Given the description of an element on the screen output the (x, y) to click on. 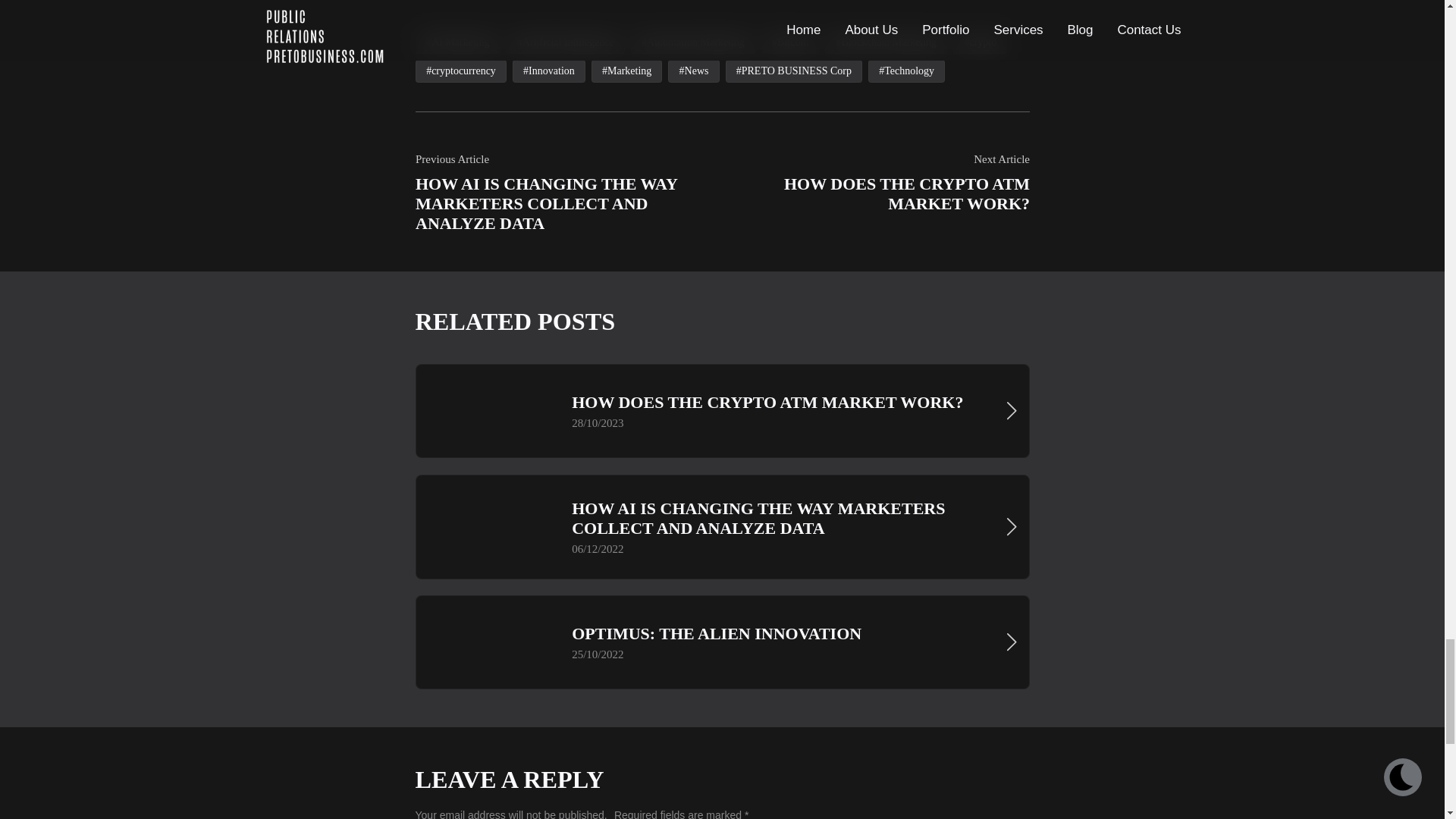
Artificial Intillegence (564, 42)
crypto (980, 42)
Innovation (548, 70)
Marketing (626, 70)
cryptocurrency (460, 70)
PRETO BUSINESS Corp (793, 70)
How Does the Crypto ATM Market Work? (720, 411)
Technology (905, 70)
Automation Marketing (692, 42)
Bitcoin (789, 42)
AI Marketing (457, 42)
News (693, 70)
